Given the description of an element on the screen output the (x, y) to click on. 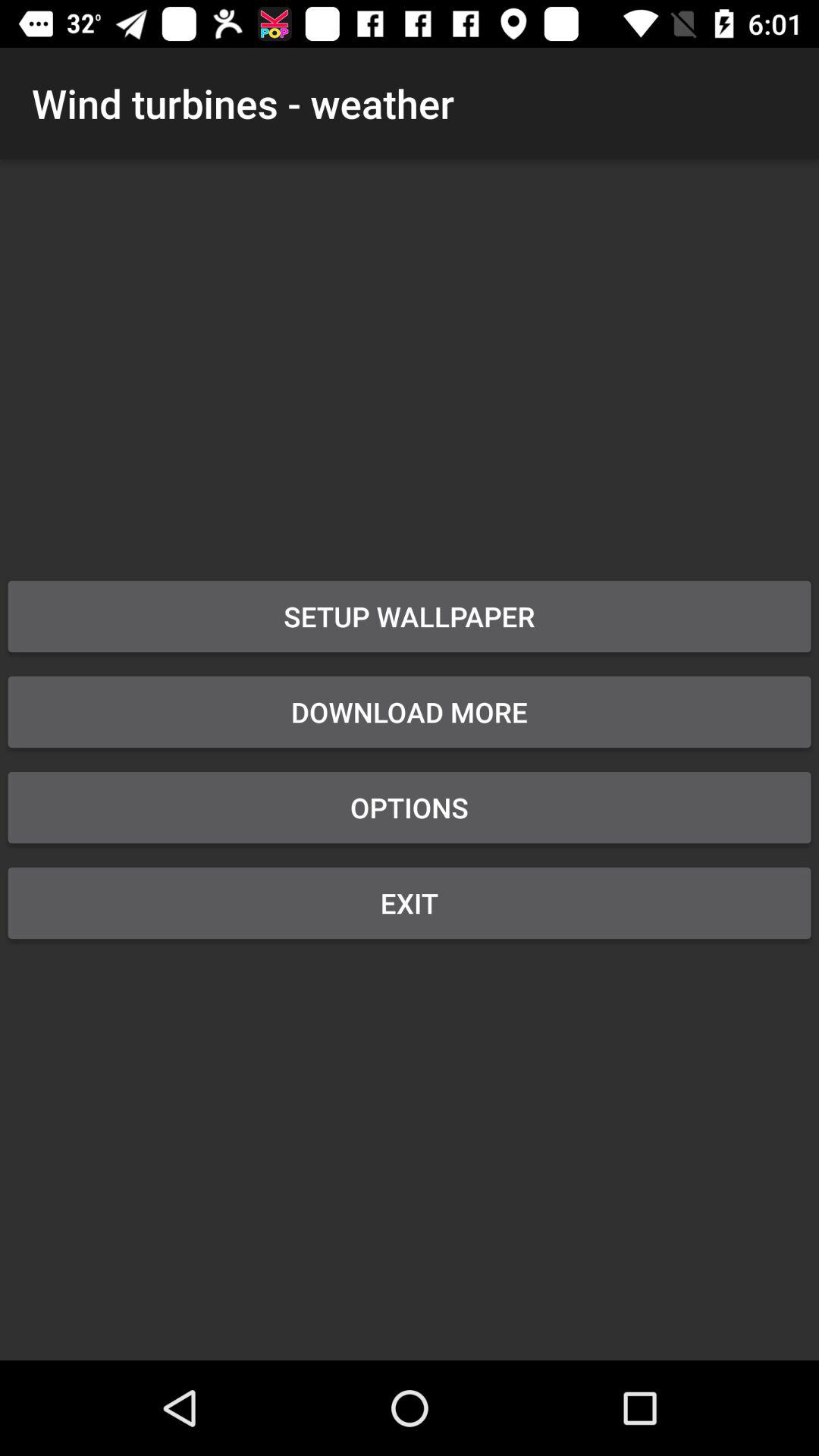
turn off the app below the wind turbines - weather (409, 616)
